Given the description of an element on the screen output the (x, y) to click on. 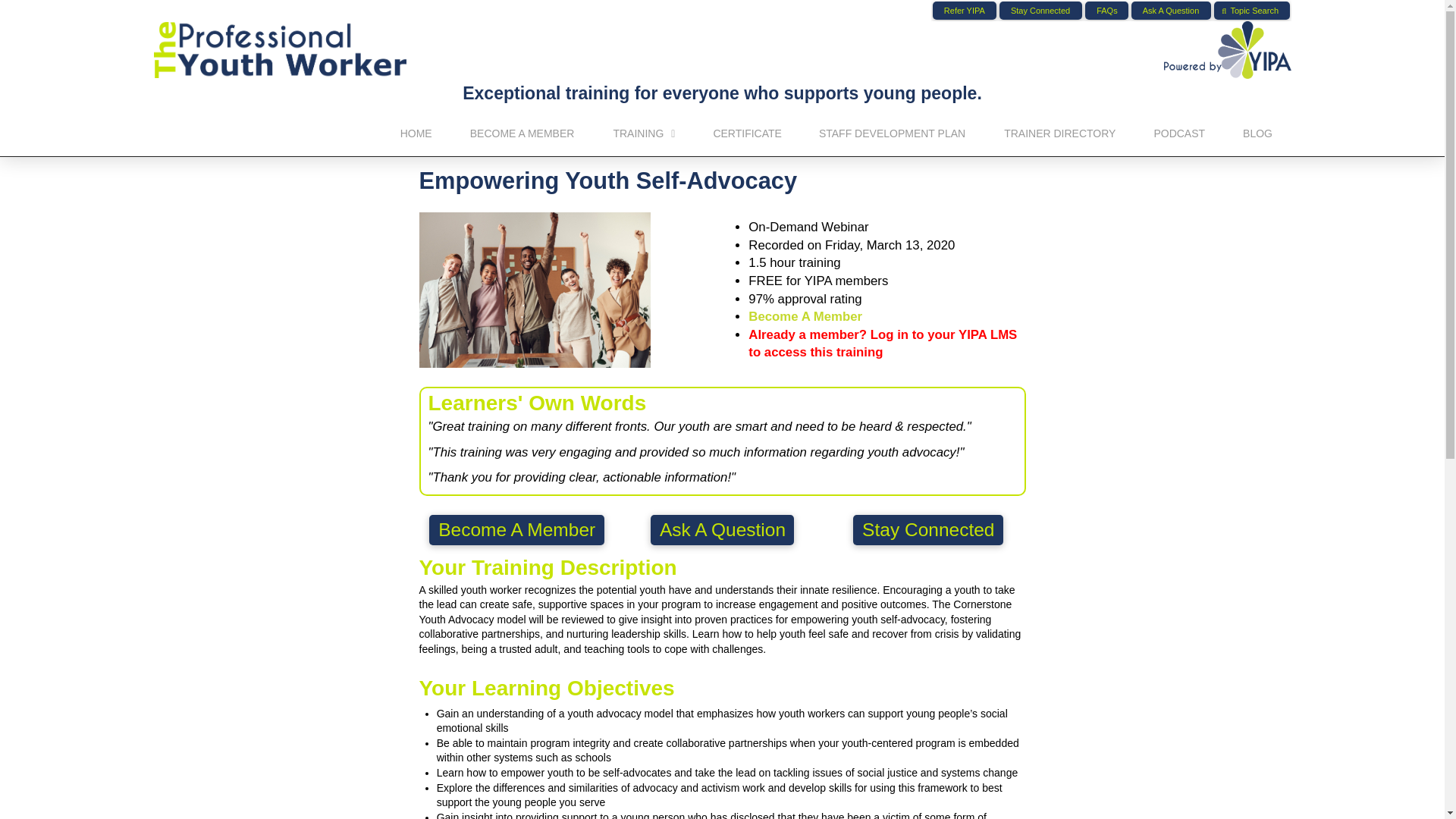
HOME (416, 132)
PODCAST (1179, 132)
Become A Member (516, 530)
Stay Connected (1039, 10)
TRAINER DIRECTORY (1059, 132)
Ask A Question (722, 530)
FAQs (1106, 10)
Become A Member (804, 316)
Ask A Question (1171, 10)
TRAINING (644, 132)
BECOME A MEMBER (522, 132)
BLOG (1257, 132)
CERTIFICATE (747, 132)
Refer YIPA (964, 10)
Stay Connected (928, 530)
